Given the description of an element on the screen output the (x, y) to click on. 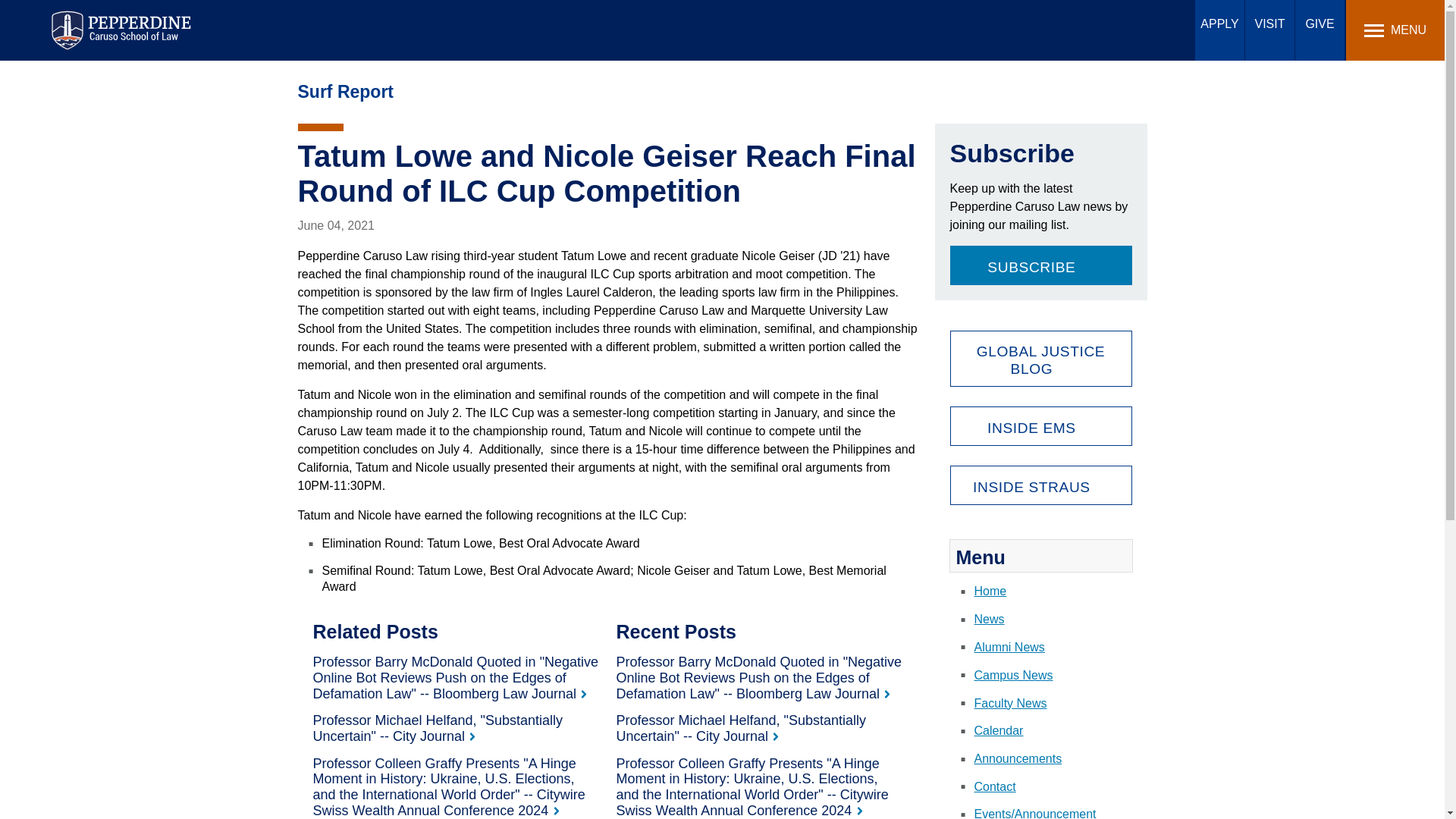
open search (1182, 29)
Submit (457, 19)
